Given the description of an element on the screen output the (x, y) to click on. 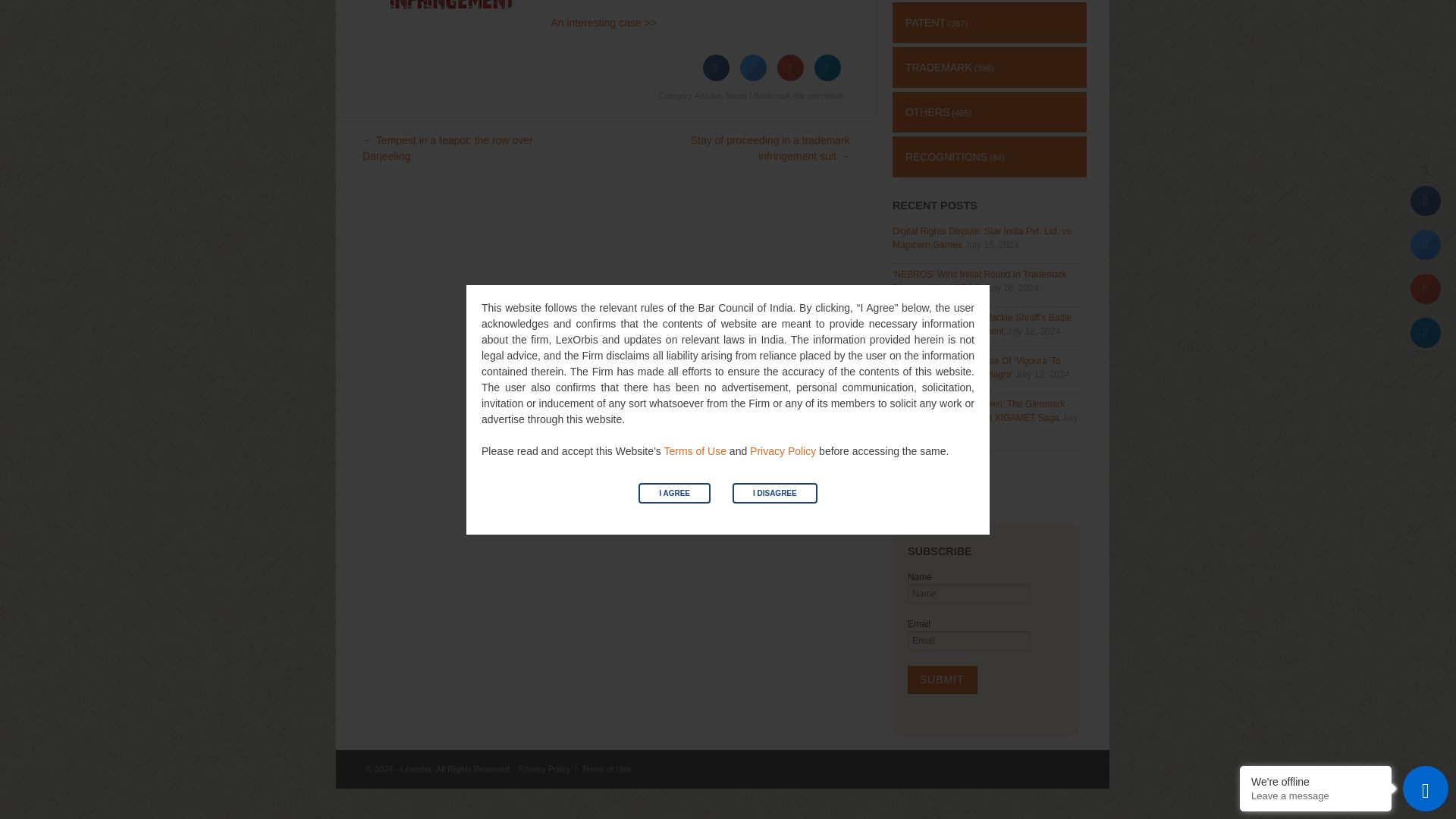
Privacy Policy (782, 130)
Terms of Use (694, 130)
I DISAGREE (774, 172)
Leave a message (1315, 475)
We're offline (1315, 461)
